Given the description of an element on the screen output the (x, y) to click on. 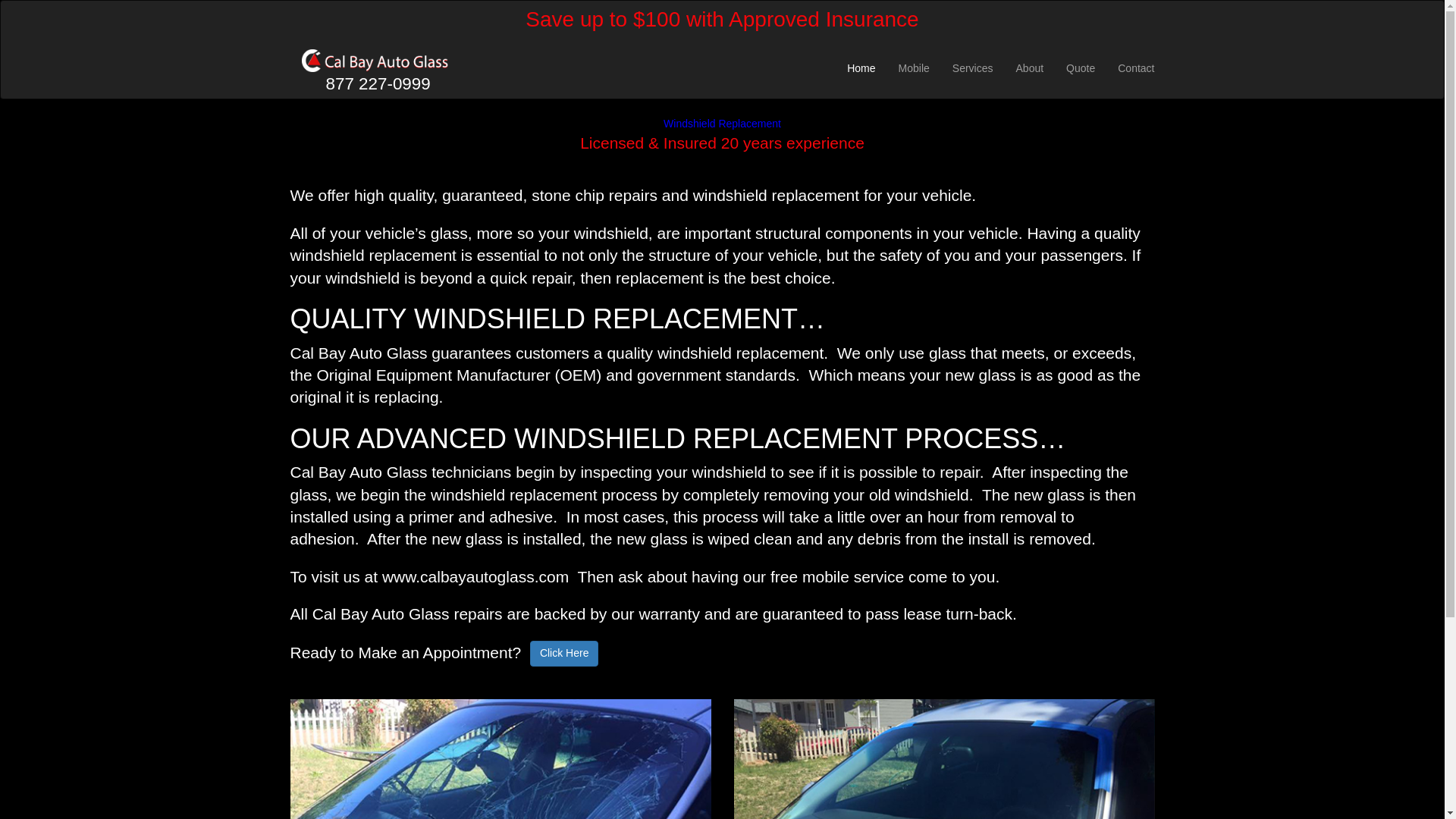
Home (860, 67)
About (1029, 67)
Click Here (563, 653)
877 227-0999 (374, 67)
Contact (1136, 67)
Services (972, 67)
Quote (1080, 67)
Mobile (913, 67)
